Given the description of an element on the screen output the (x, y) to click on. 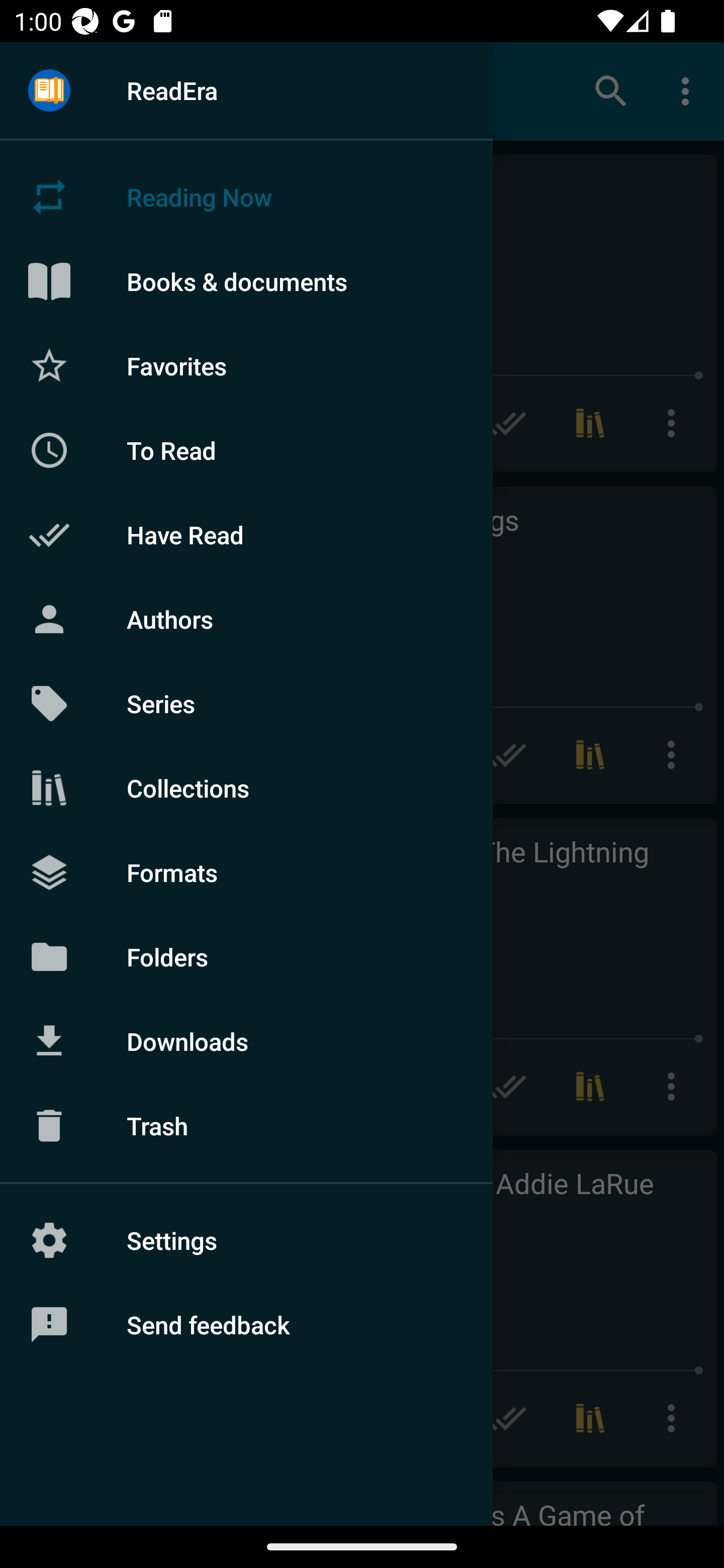
Menu (49, 91)
ReadEra (246, 89)
Search books & documents (611, 90)
More options (688, 90)
Reading Now (246, 197)
Books & documents (246, 281)
Favorites (246, 365)
To Read (246, 449)
Have Read (246, 534)
Authors (246, 619)
Series (246, 703)
Collections (246, 787)
Formats (246, 871)
Folders (246, 956)
Downloads (246, 1040)
Trash (246, 1125)
Settings (246, 1239)
Send feedback (246, 1324)
